Given the description of an element on the screen output the (x, y) to click on. 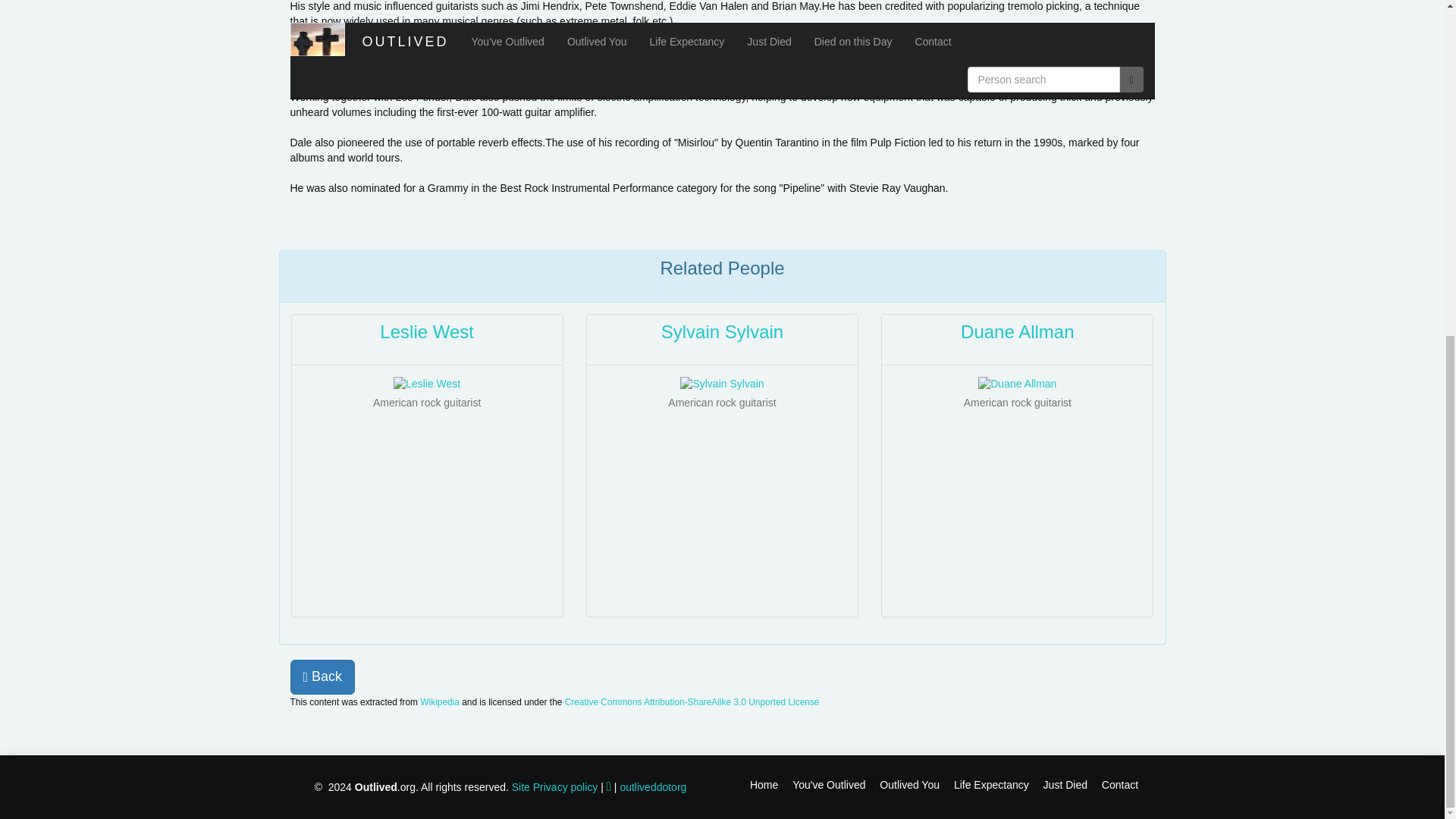
Home (763, 784)
outliveddotorg (652, 787)
Back (322, 677)
follow us on Pinterest (652, 787)
Site Privacy policy (555, 787)
Just Died (1059, 784)
Contact (1114, 784)
Outlived You (903, 784)
You've Outlived (822, 784)
Wikipedia (440, 701)
Creative Commons Attribution-ShareAlike 3.0 Unported License (691, 701)
Sylvain Sylvain (722, 331)
Life Expectancy (985, 784)
Leslie West (427, 331)
Duane Allman (1017, 331)
